Given the description of an element on the screen output the (x, y) to click on. 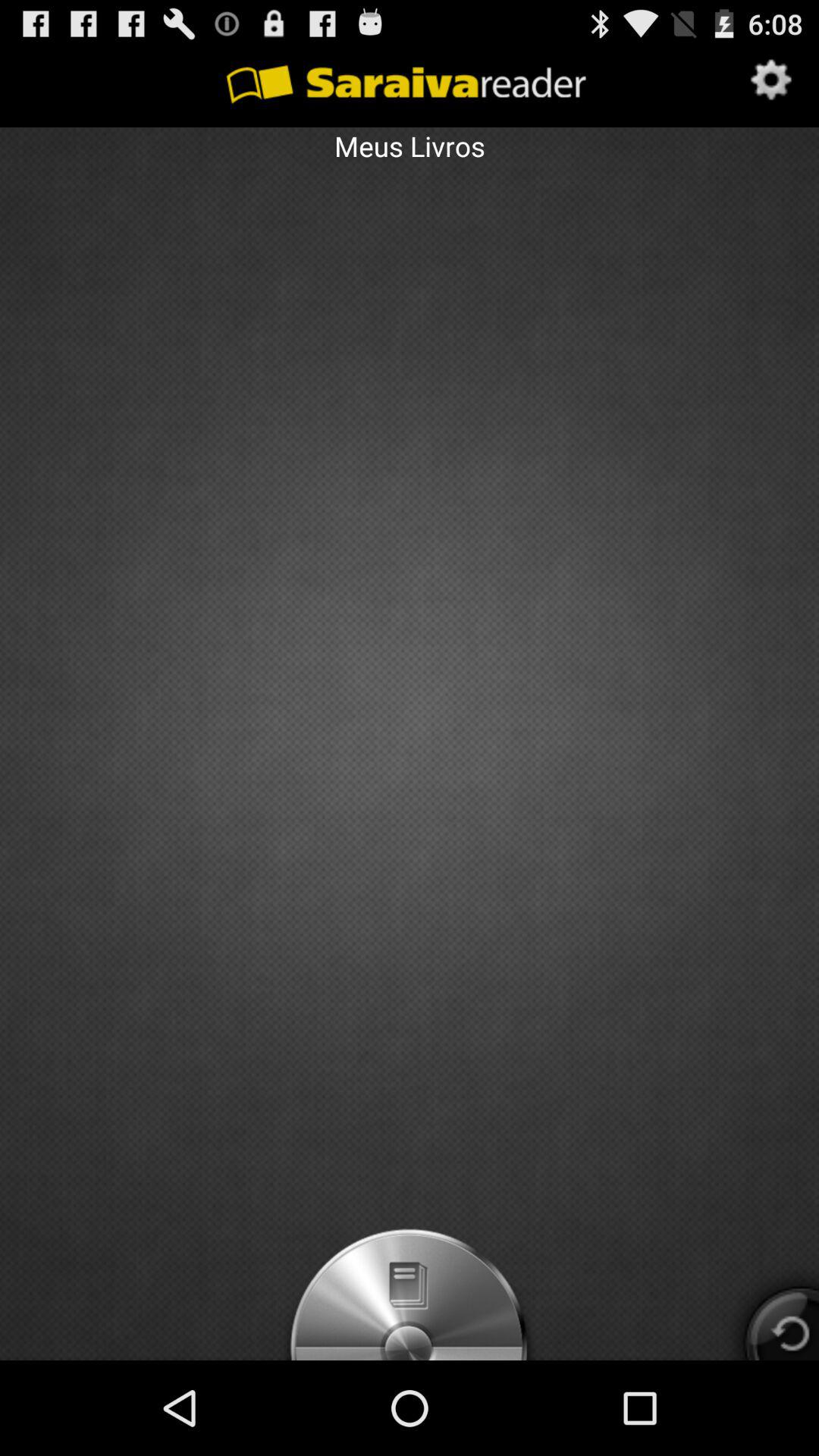
launch icon at the top right corner (772, 81)
